Given the description of an element on the screen output the (x, y) to click on. 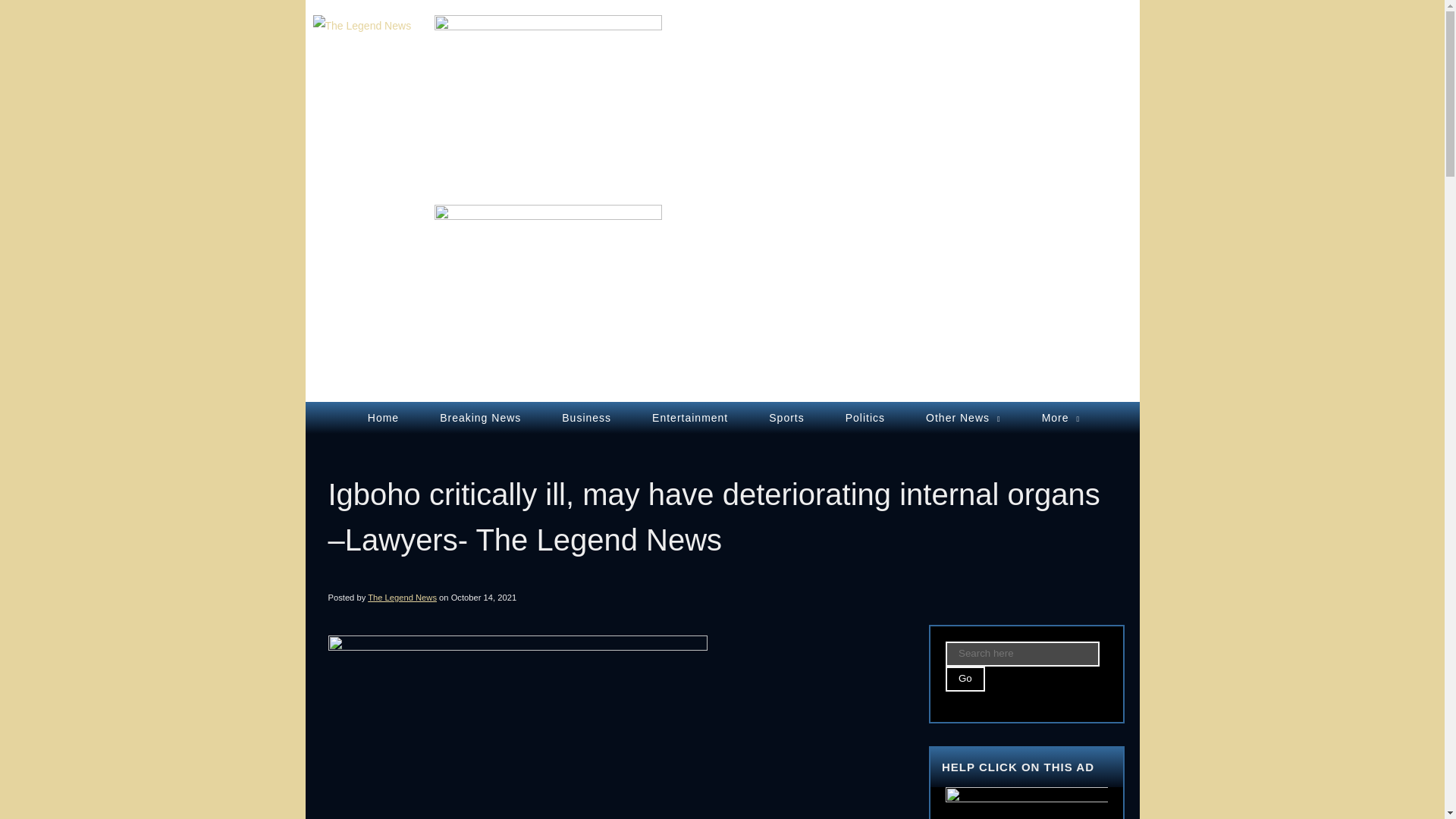
Politics (864, 417)
Posts by The Legend News (402, 596)
Business (585, 417)
More Contents (1061, 417)
Breaking News (480, 417)
Go (964, 678)
Entertainment (689, 417)
The Legend News (402, 596)
The Legend News (361, 25)
Sports (786, 417)
Home (382, 417)
Other News (963, 417)
More (1061, 417)
